Given the description of an element on the screen output the (x, y) to click on. 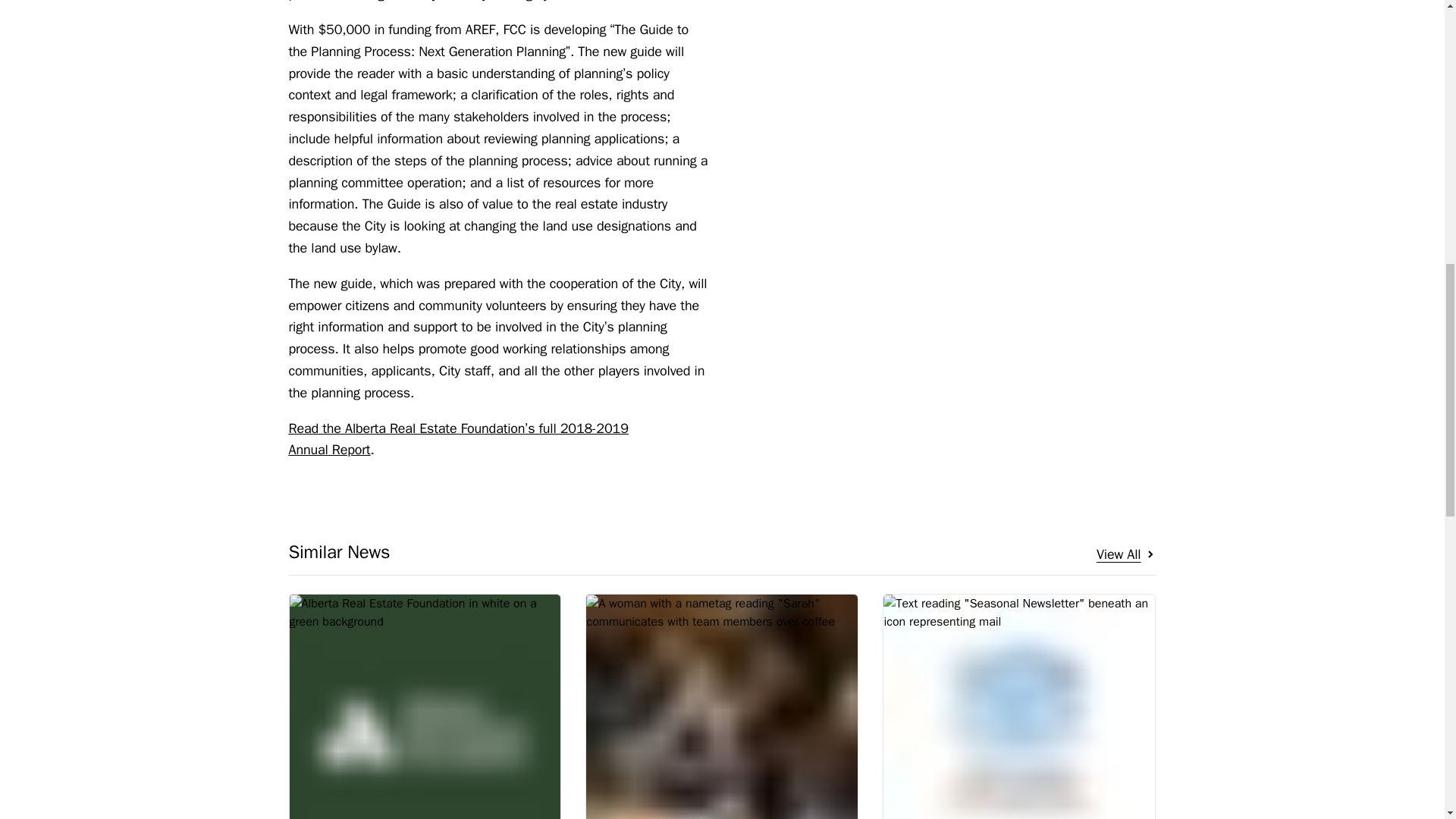
View All (1019, 706)
